Given the description of an element on the screen output the (x, y) to click on. 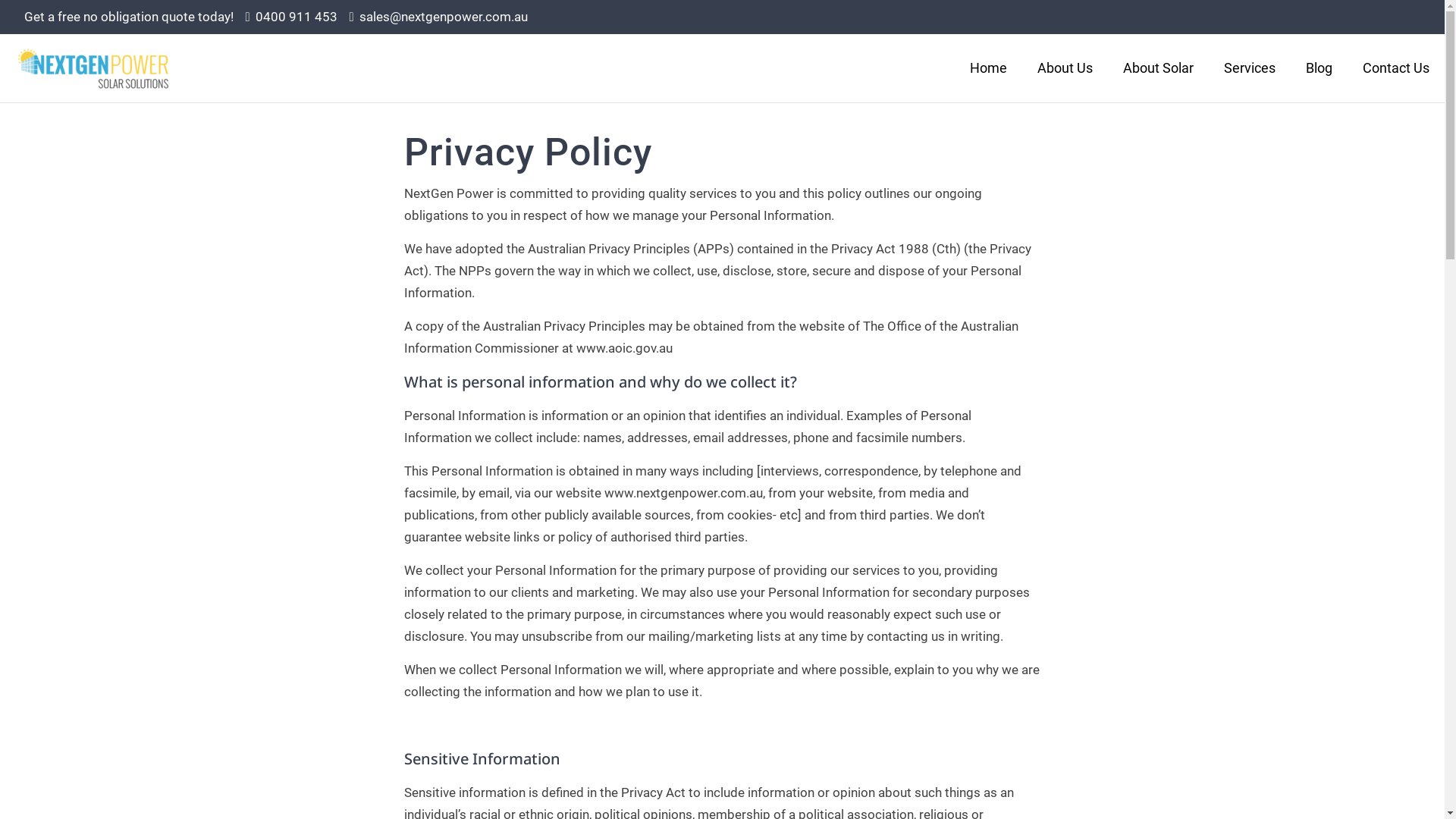
NextGen Power Element type: hover (93, 68)
About Us Element type: text (1064, 68)
0400 911 453 Element type: text (296, 16)
sales@nextgenpower.com.au Element type: text (443, 16)
Services Element type: text (1249, 68)
Home Element type: text (988, 68)
About Solar Element type: text (1157, 68)
Blog Element type: text (1318, 68)
Contact Us Element type: text (1395, 68)
